Given the description of an element on the screen output the (x, y) to click on. 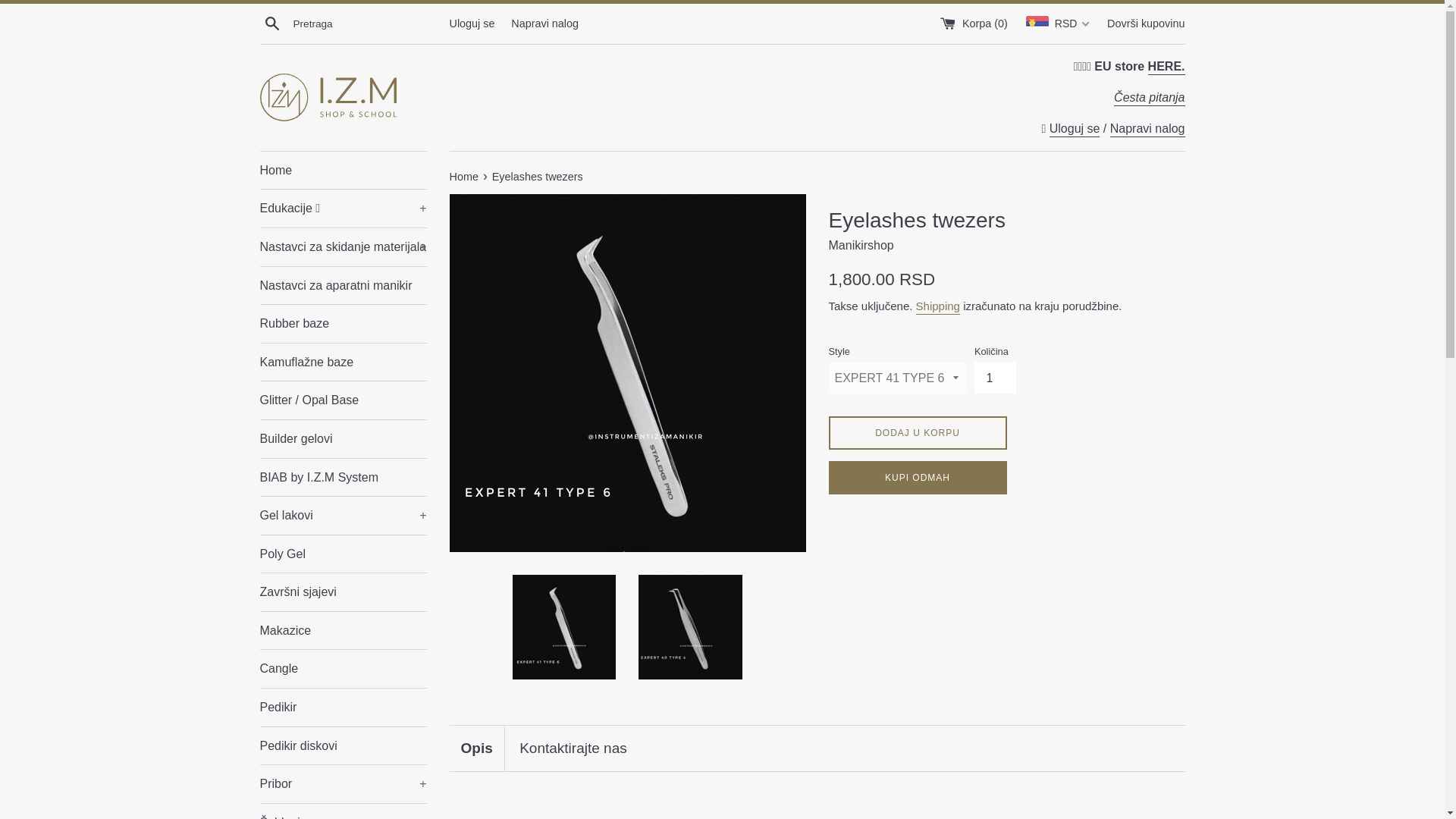
Builder gelovi (342, 438)
Pretraga (271, 22)
Napravi nalog (1147, 129)
BIAB by I.Z.M System (342, 476)
Home (342, 170)
Nastavci za aparatni manikir (342, 285)
Uloguj se (471, 22)
Rubber baze (342, 323)
Napravi nalog (544, 22)
1 (995, 377)
Nazad na glavnu stranicu (464, 176)
Uloguj se (1074, 129)
HERE. (1166, 67)
